Given the description of an element on the screen output the (x, y) to click on. 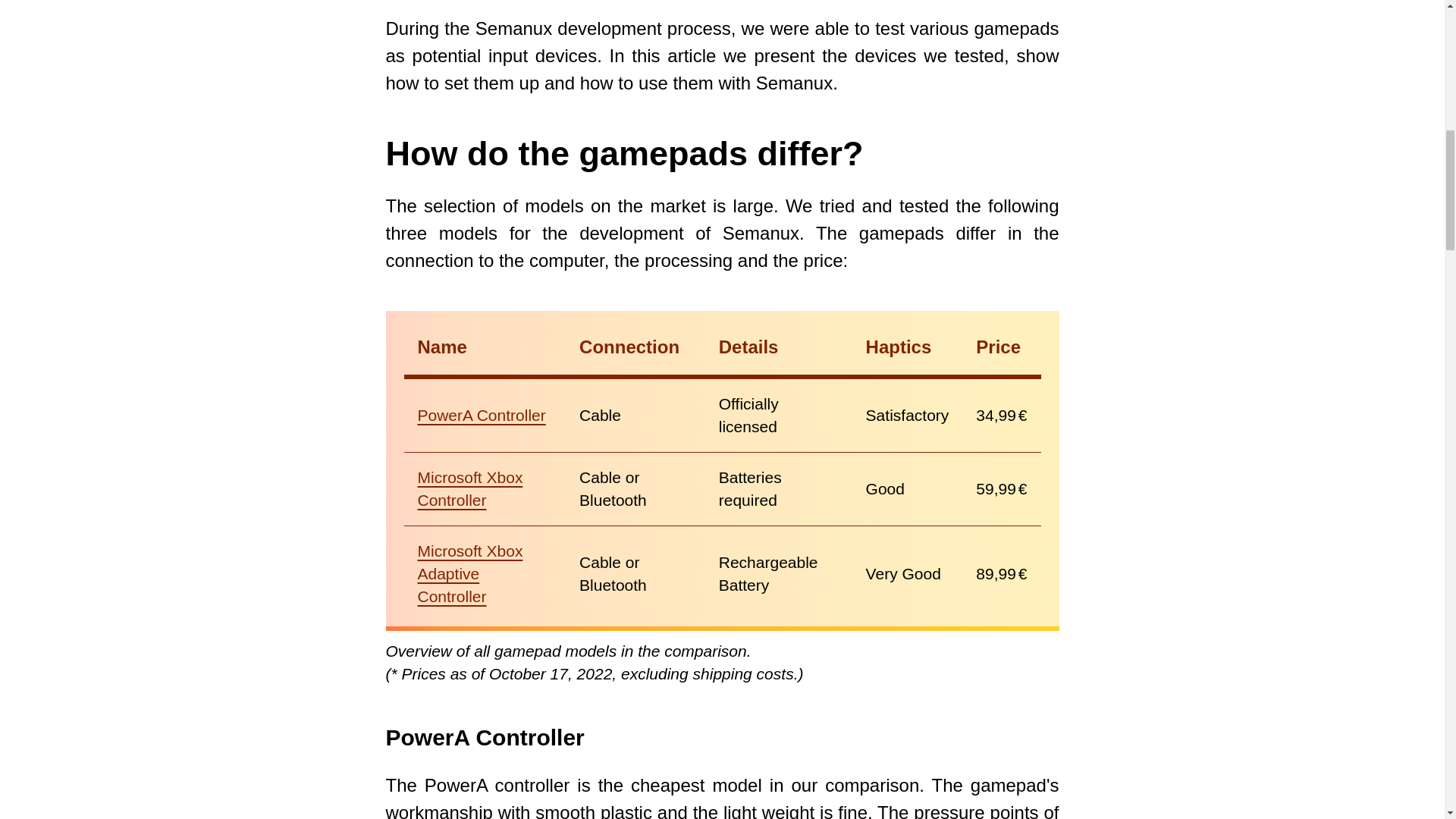
How do the gamepads differ? (624, 153)
Microsoft Xbox Adaptive Controller (469, 573)
Microsoft Xbox Controller (469, 488)
PowerA Controller (480, 415)
PowerA Controller (484, 737)
